Given the description of an element on the screen output the (x, y) to click on. 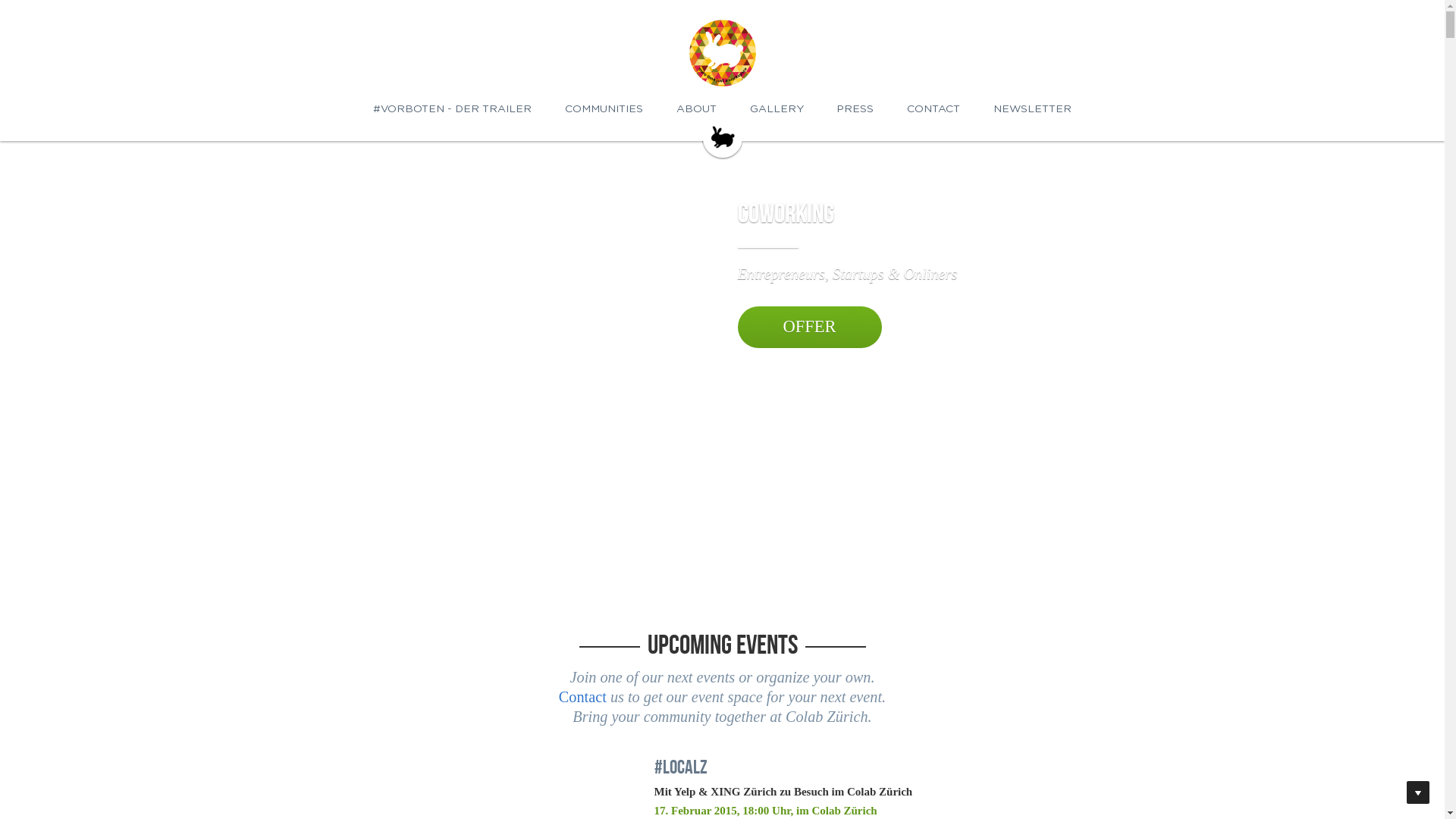
Next Section Element type: hover (1417, 792)
COMMUNITIES Element type: text (603, 109)
OFFER Element type: text (809, 327)
#VORBOTEN - DER TRAILER Element type: text (452, 109)
GALLERY Element type: text (776, 109)
PRESS Element type: text (854, 109)
ABOUT Element type: text (696, 109)
Contact Element type: text (582, 696)
CONTACT Element type: text (933, 109)
NEWSLETTER Element type: text (1032, 109)
